Given the description of an element on the screen output the (x, y) to click on. 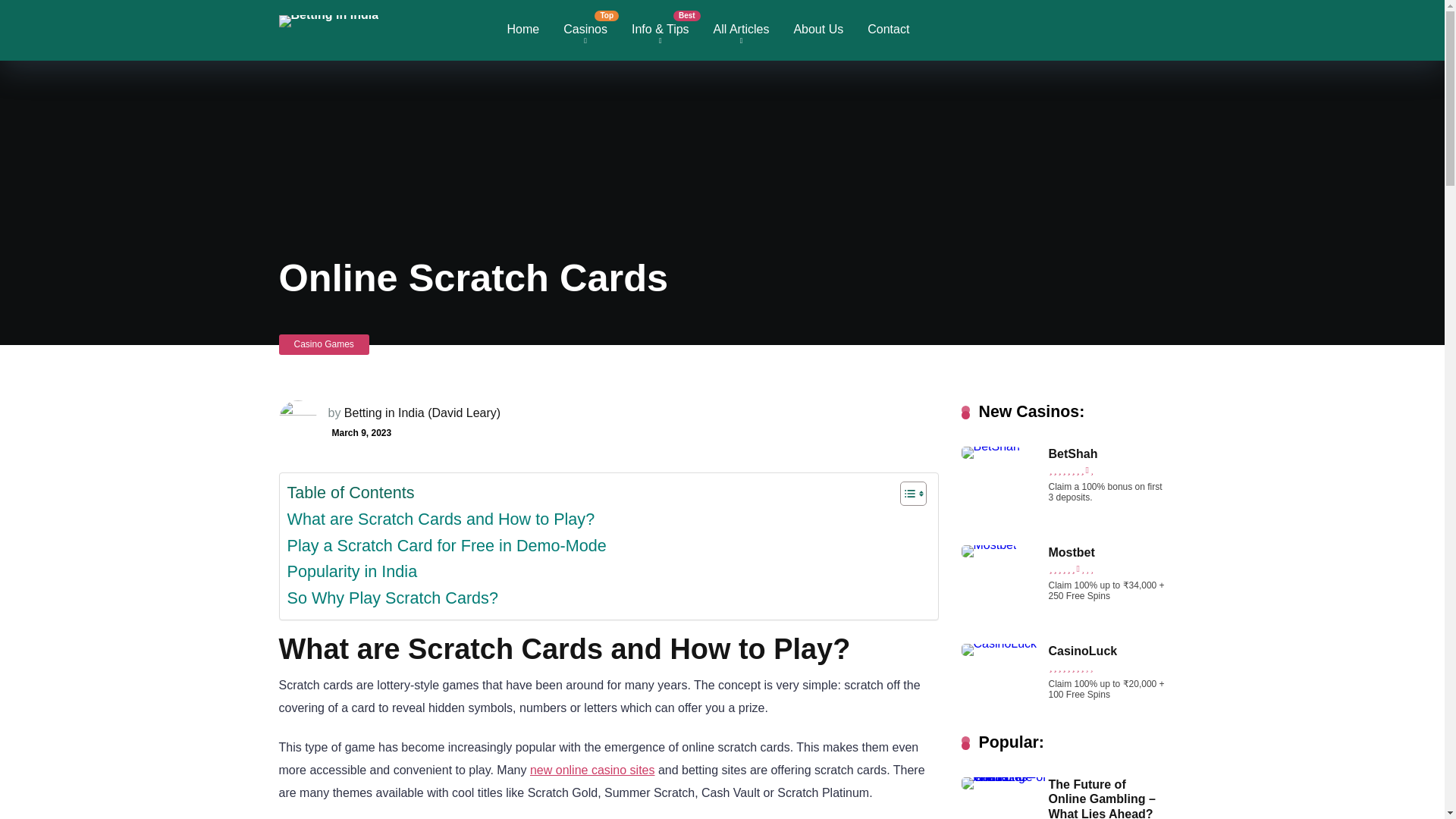
Home (523, 30)
Betting in India (328, 15)
Popularity in India (351, 571)
So Why Play Scratch Cards? (391, 598)
Casinos (585, 30)
Play a Scratch Card for Free in Demo-Mode (445, 546)
What are Scratch Cards and How to Play? (440, 519)
